Given the description of an element on the screen output the (x, y) to click on. 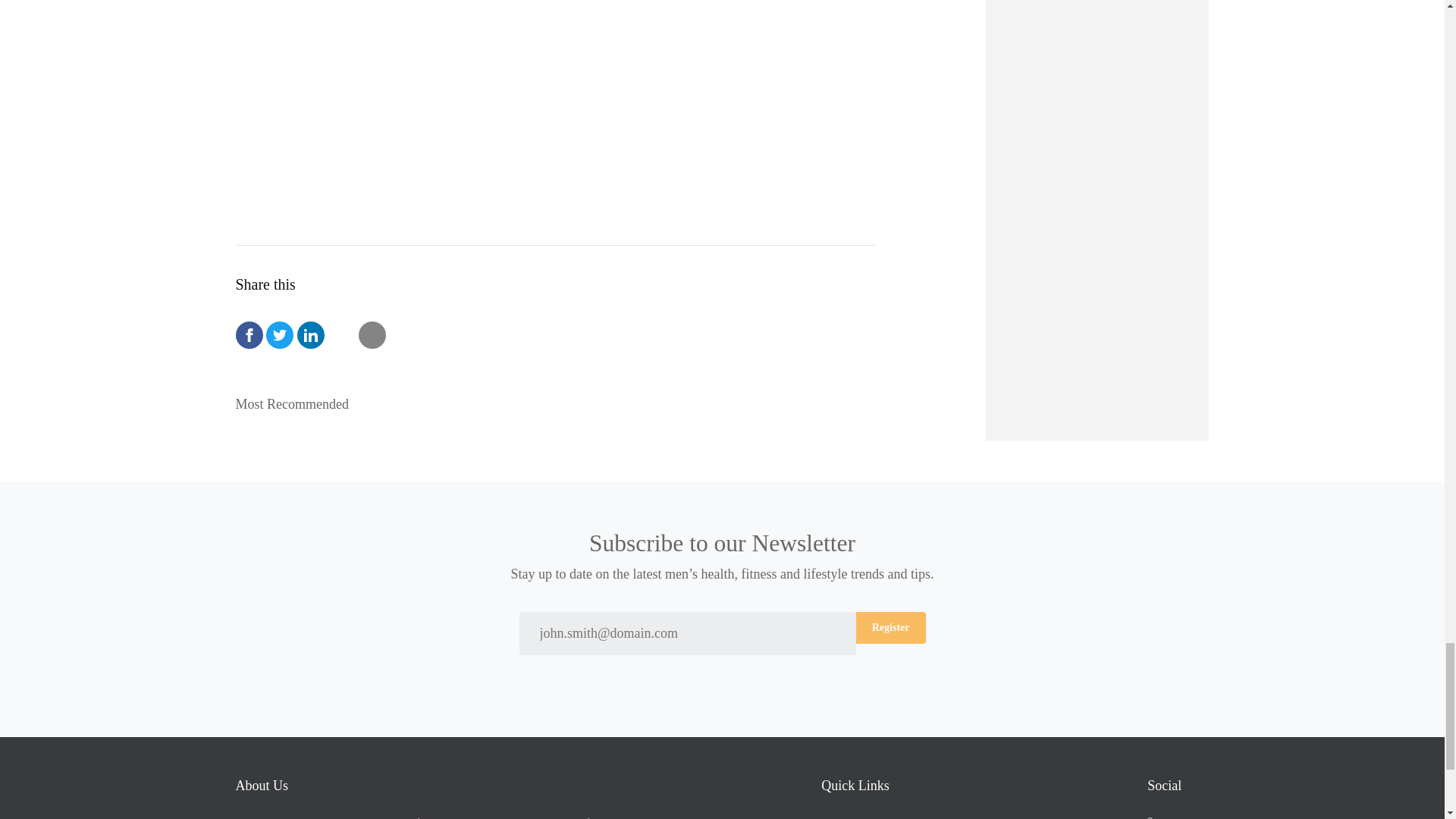
Contact (885, 816)
Register (891, 627)
Facebook (1177, 816)
Register (891, 627)
